Given the description of an element on the screen output the (x, y) to click on. 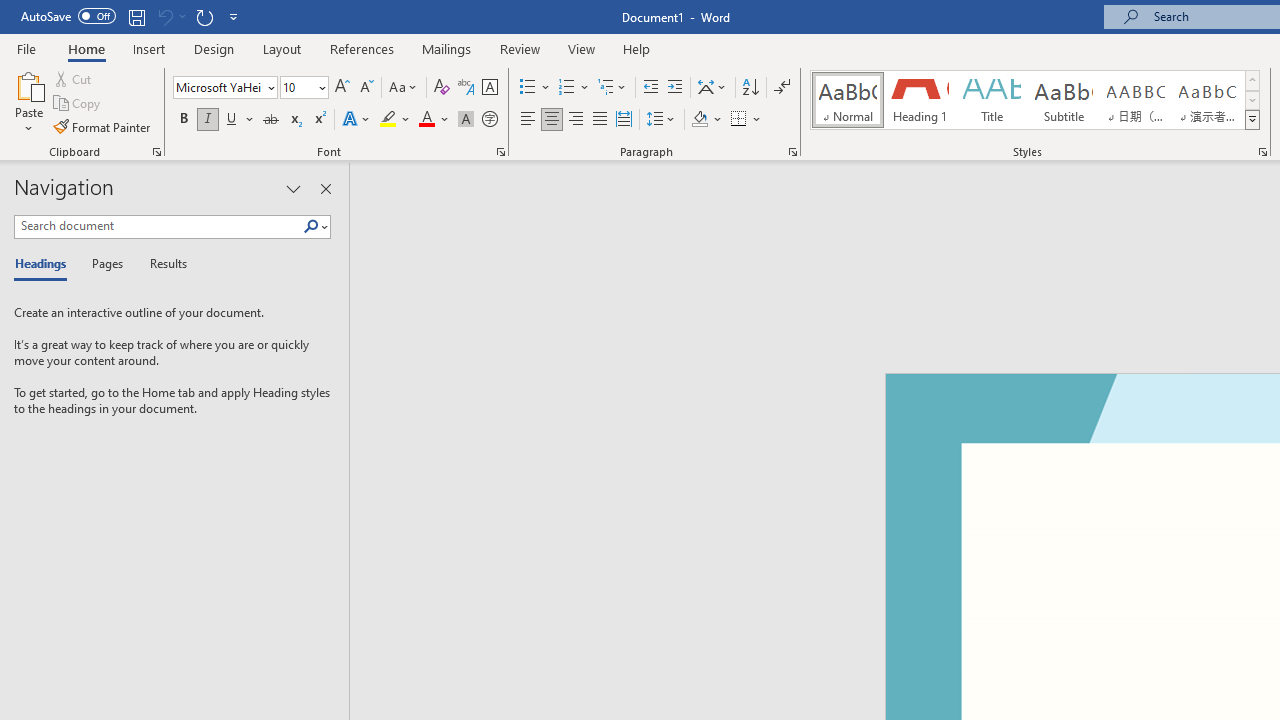
Can't Undo (170, 15)
